Given the description of an element on the screen output the (x, y) to click on. 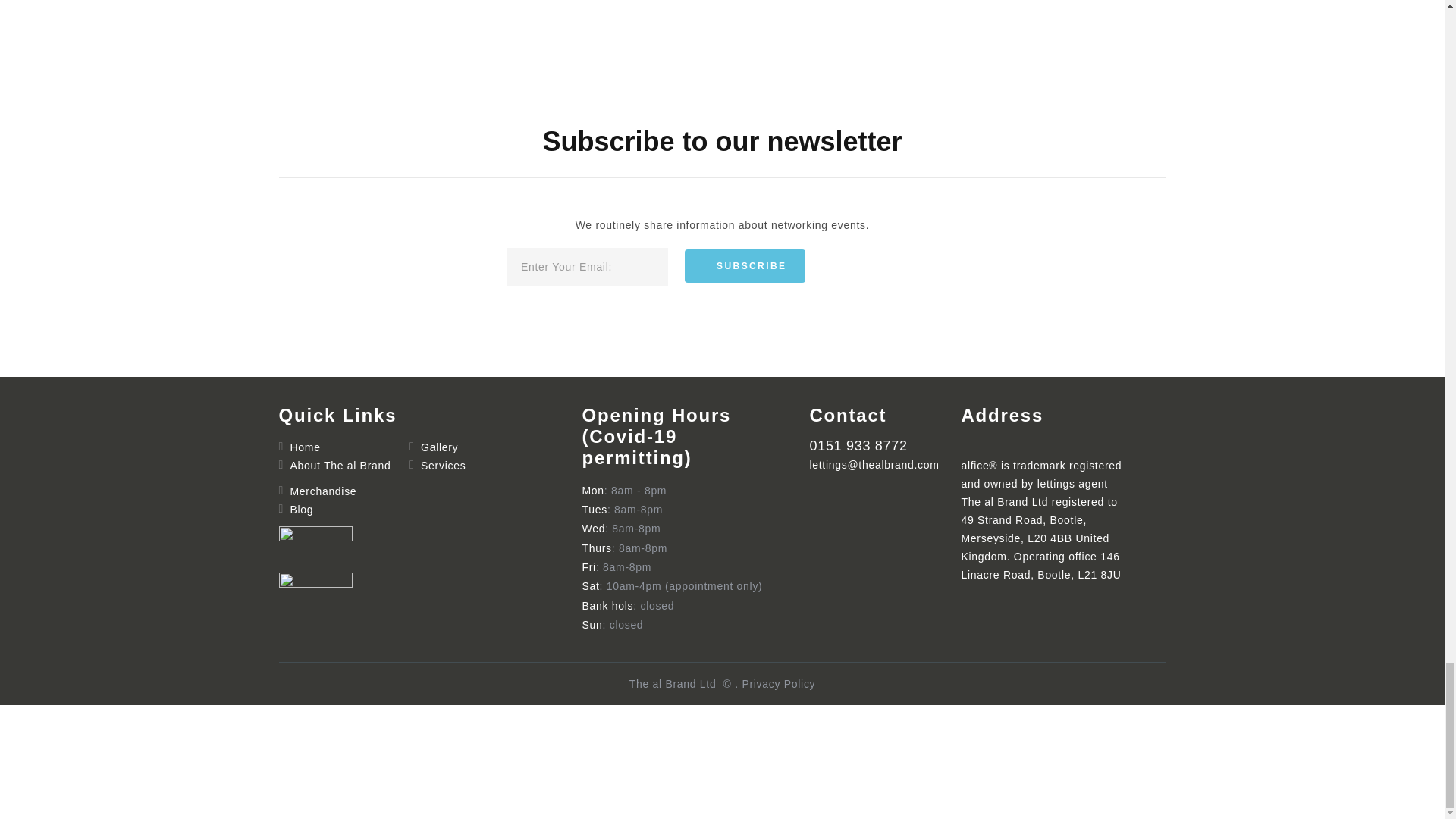
Services (442, 465)
Blog (301, 509)
Merchandise (322, 491)
About The al Brand (339, 465)
Home (304, 447)
0151 933 8772 (858, 446)
SUBSCRIBE (744, 266)
Gallery (439, 447)
